Given the description of an element on the screen output the (x, y) to click on. 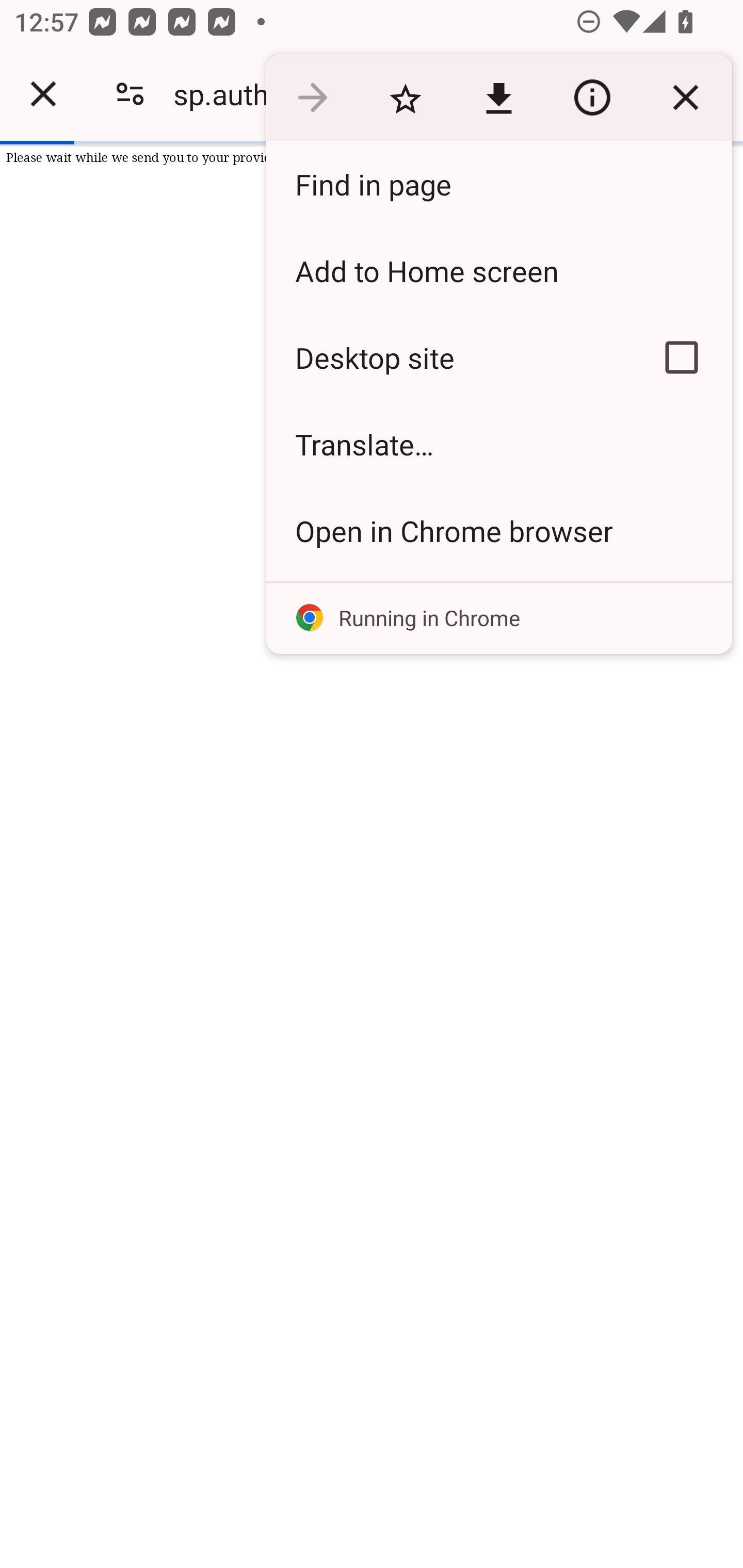
Go forward (311, 97)
Bookmark (404, 97)
Download this page (498, 97)
View site information (591, 97)
Stop refreshing (684, 97)
Find in page (498, 184)
Add to Home screen (498, 270)
Desktop site Turn on Request desktop site (447, 357)
Translate… (498, 444)
Open in Chrome browser (498, 530)
